Given the description of an element on the screen output the (x, y) to click on. 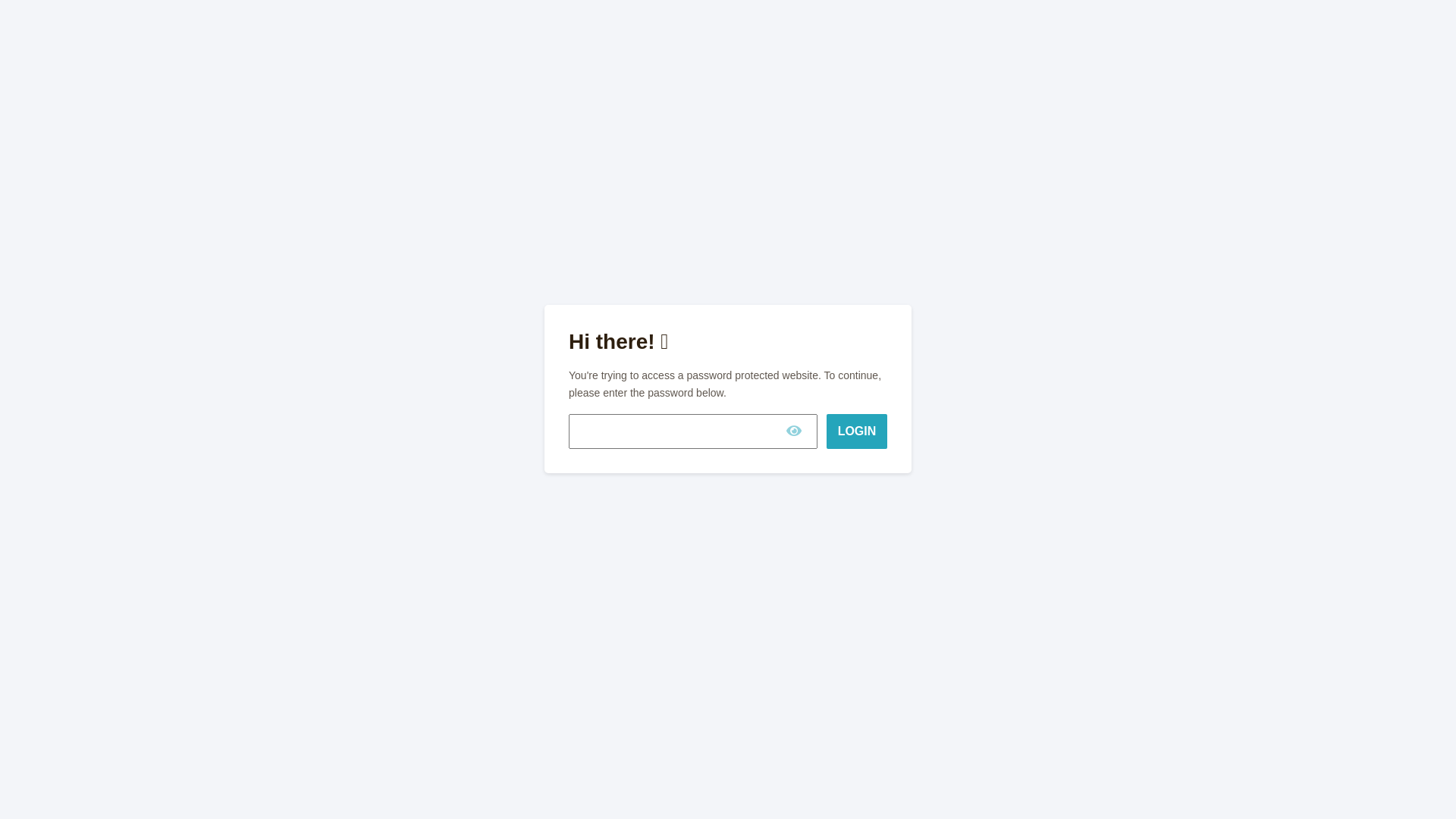
Login Element type: text (856, 431)
